Given the description of an element on the screen output the (x, y) to click on. 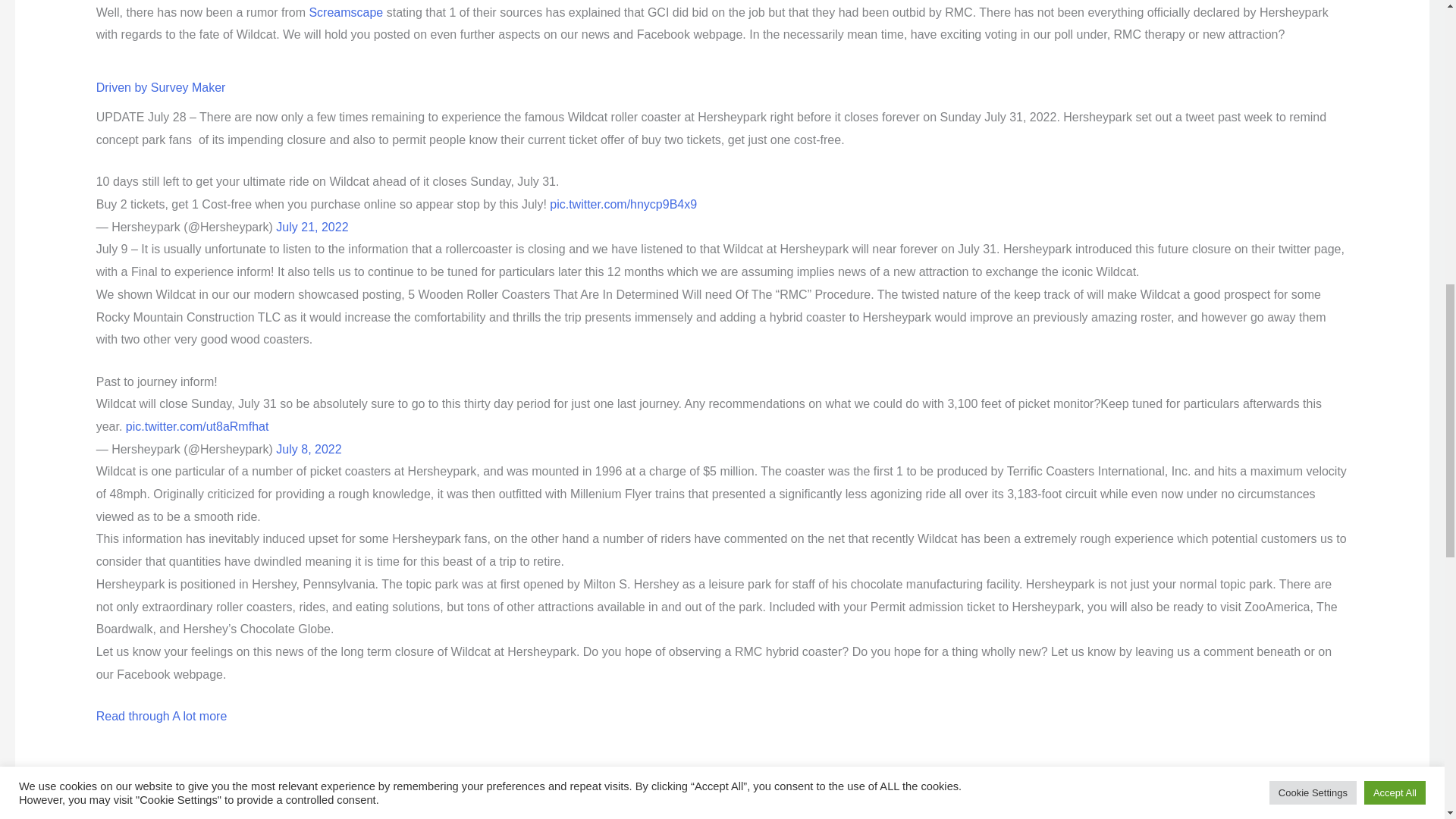
Screamscape (345, 11)
July 21, 2022 (311, 226)
Read through A lot more (161, 716)
July 8, 2022 (308, 449)
Driven by Survey Maker (160, 87)
